Given the description of an element on the screen output the (x, y) to click on. 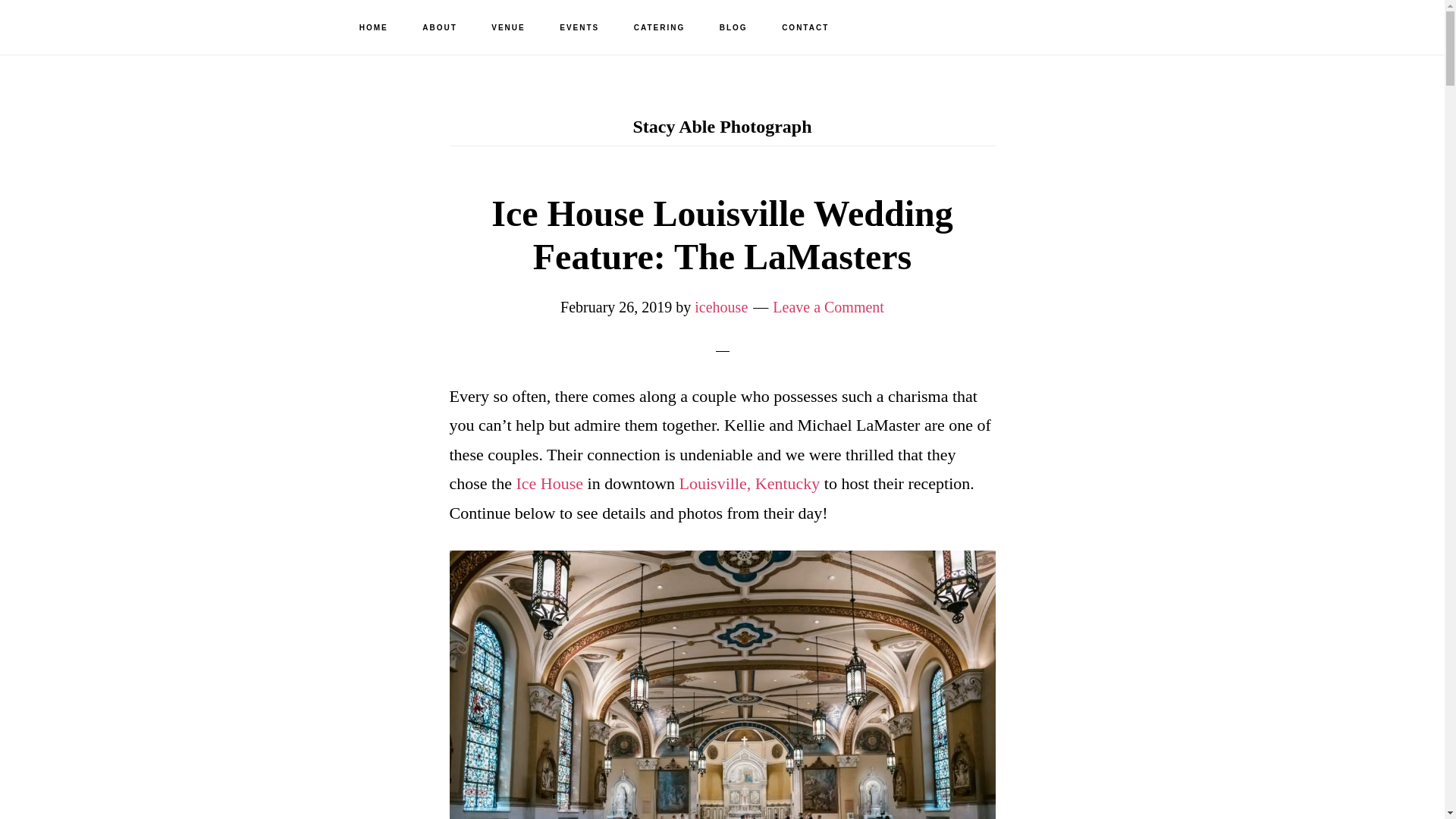
CATERING (659, 27)
HOME (373, 27)
ICE HOUSE (98, 26)
Ice House (549, 483)
Louisville, Kentucky (750, 483)
Ice House Louisville Wedding Feature: The LaMasters (722, 235)
VENUE (508, 27)
BLOG (733, 27)
icehouse (721, 306)
Leave a Comment (828, 306)
EVENTS (579, 27)
CONTACT (805, 27)
ABOUT (439, 27)
